Given the description of an element on the screen output the (x, y) to click on. 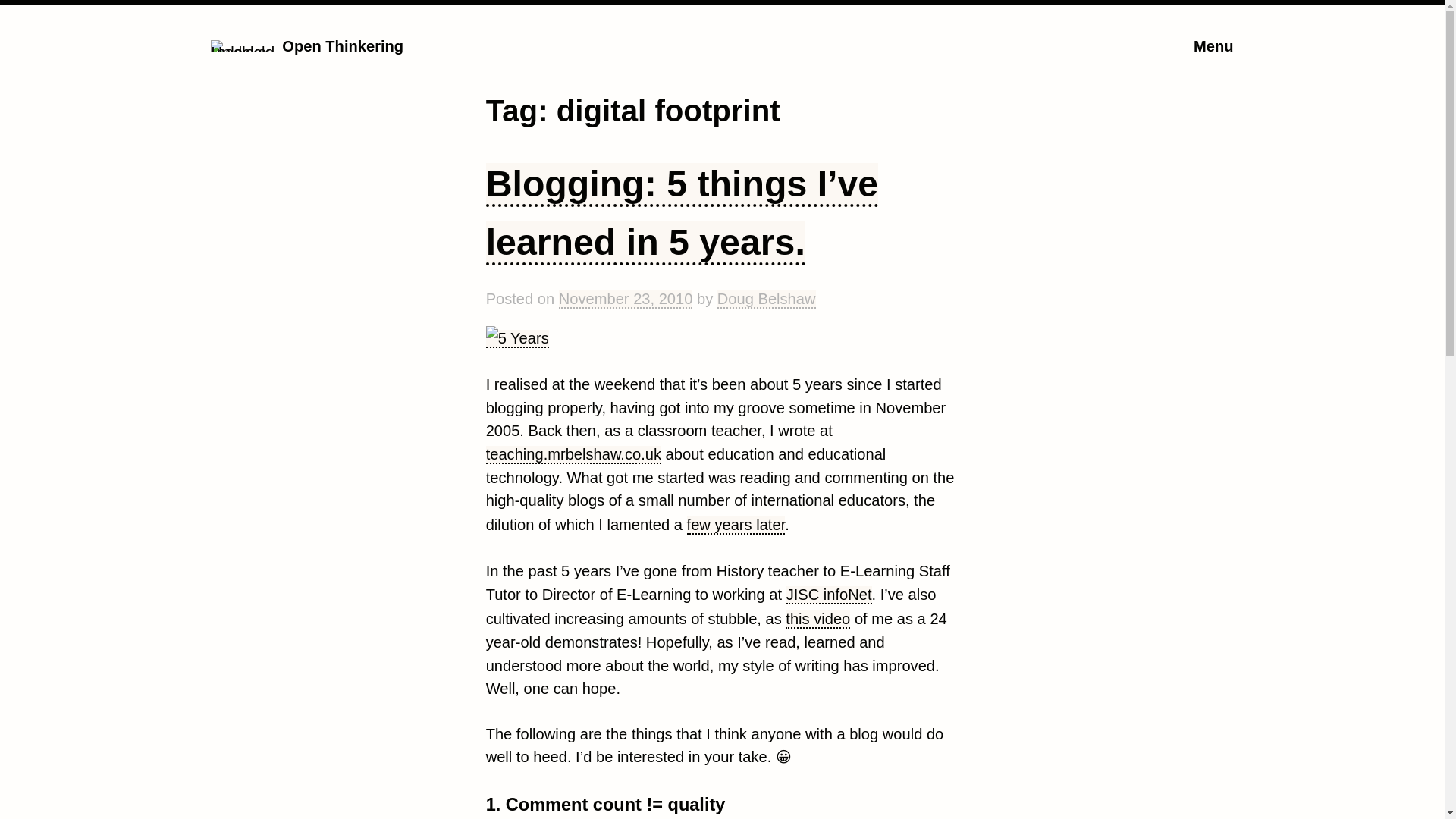
teaching.mrbelshaw.co.uk (573, 454)
Open Thinkering (342, 45)
November 23, 2010 (626, 299)
JISC infoNet (829, 595)
few years later (736, 525)
Menu (1213, 46)
Doug Belshaw (766, 299)
this video (818, 619)
Home (243, 52)
5 Years (517, 337)
